Given the description of an element on the screen output the (x, y) to click on. 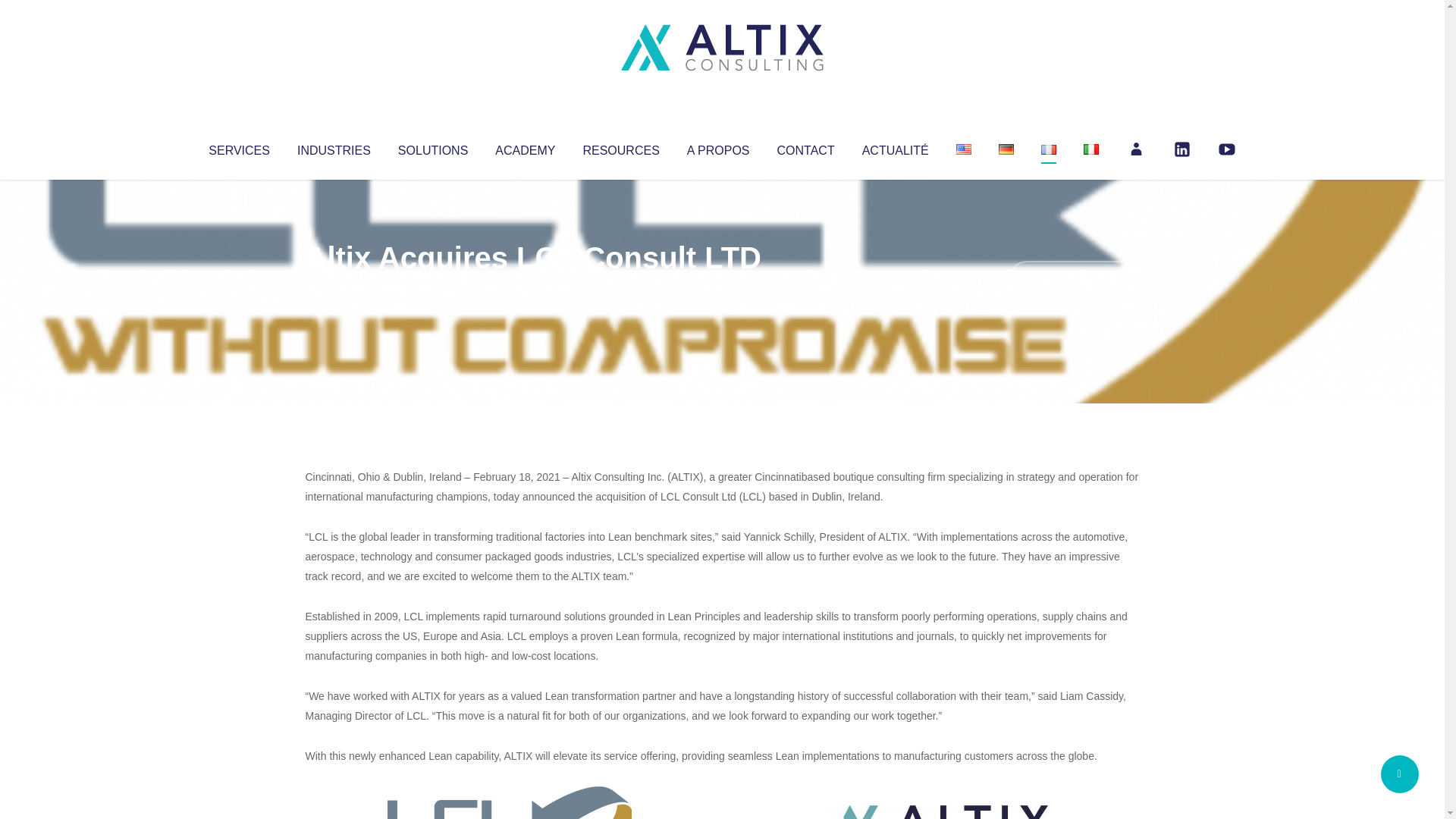
A PROPOS (718, 146)
Articles par Altix (333, 287)
SOLUTIONS (432, 146)
Uncategorized (530, 287)
SERVICES (238, 146)
No Comments (1073, 278)
Altix (333, 287)
ACADEMY (524, 146)
RESOURCES (620, 146)
INDUSTRIES (334, 146)
